Given the description of an element on the screen output the (x, y) to click on. 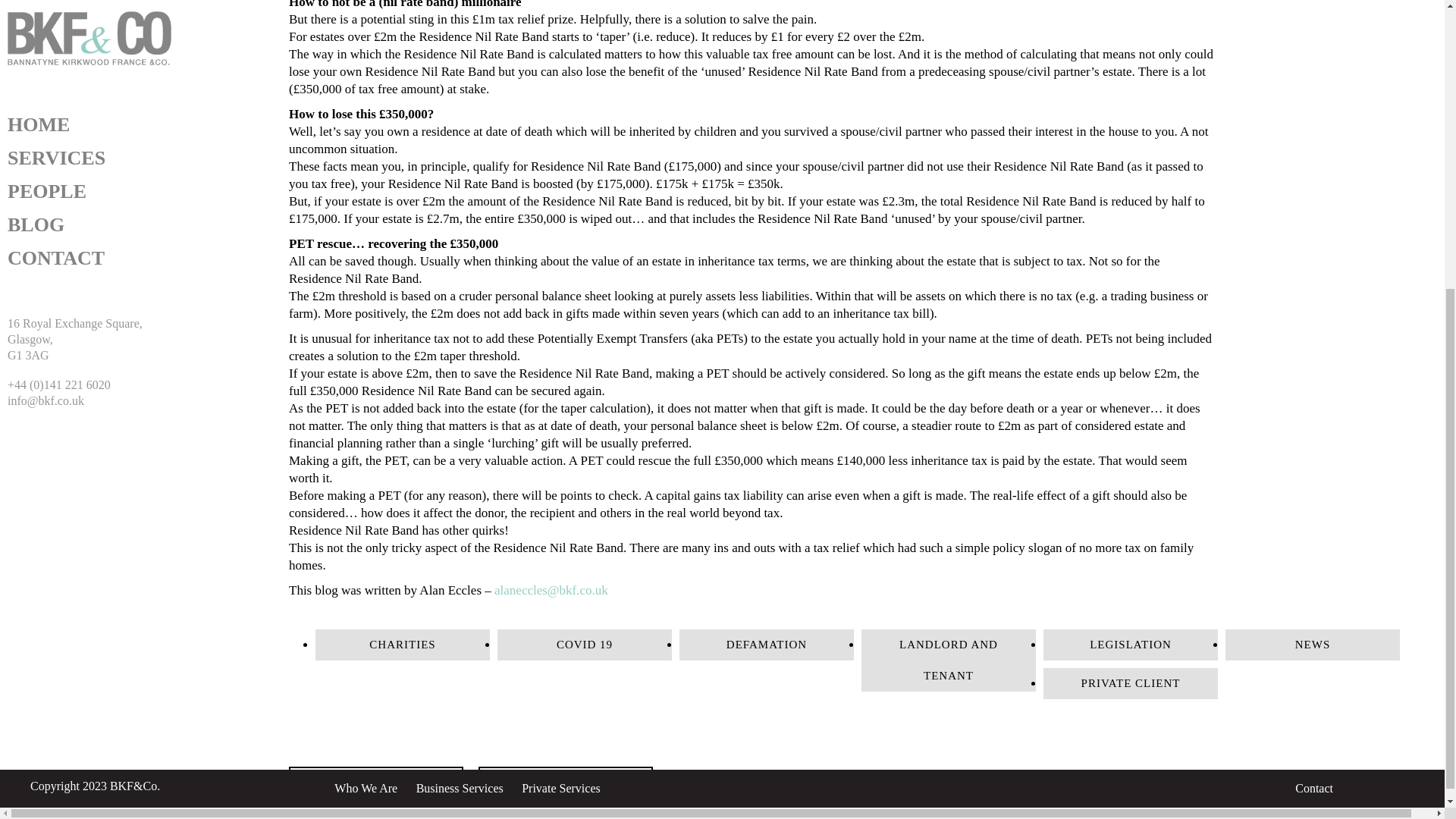
LANDLORD AND TENANT (948, 660)
LEGISLATION (1130, 644)
DEFAMATION (766, 644)
PREVIOUS POST (375, 783)
Who We Are (365, 338)
Private Services (560, 338)
NEXT POST (565, 783)
CHARITIES (402, 644)
COVID 19 (584, 644)
Contact (1314, 338)
NEWS (1312, 644)
Business Services (459, 338)
PRIVATE CLIENT (1130, 683)
